Given the description of an element on the screen output the (x, y) to click on. 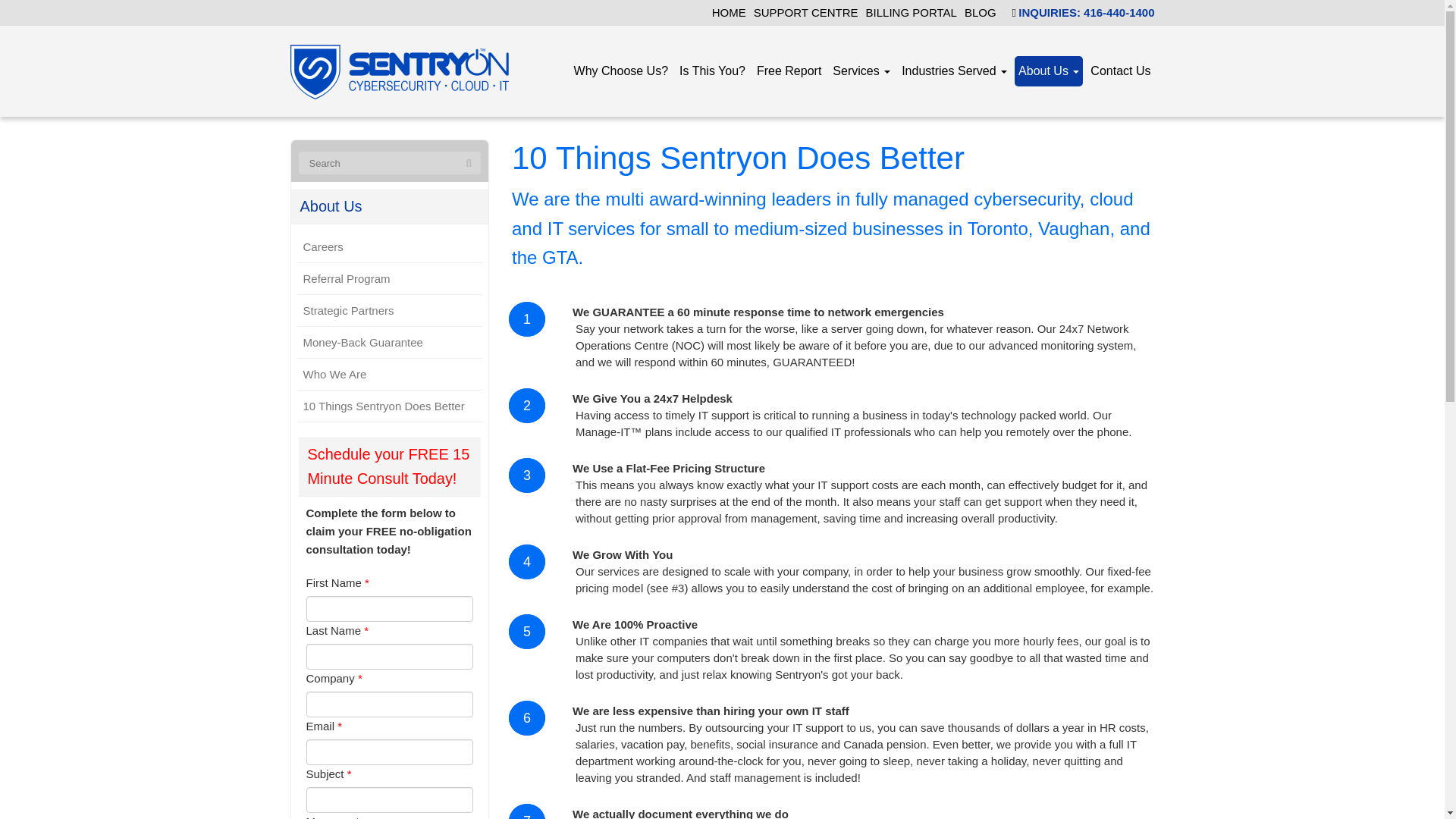
Is This You? (712, 71)
Free Report (788, 71)
SUPPORT CENTRE (806, 11)
Search (468, 163)
BLOG (979, 11)
Contact Us (1120, 71)
Careers (390, 246)
Why Choose Us? (621, 71)
Industries Served (954, 71)
About Us (1048, 71)
HOME (728, 11)
About Us (389, 206)
Services (860, 71)
BILLING PORTAL (911, 11)
